Given the description of an element on the screen output the (x, y) to click on. 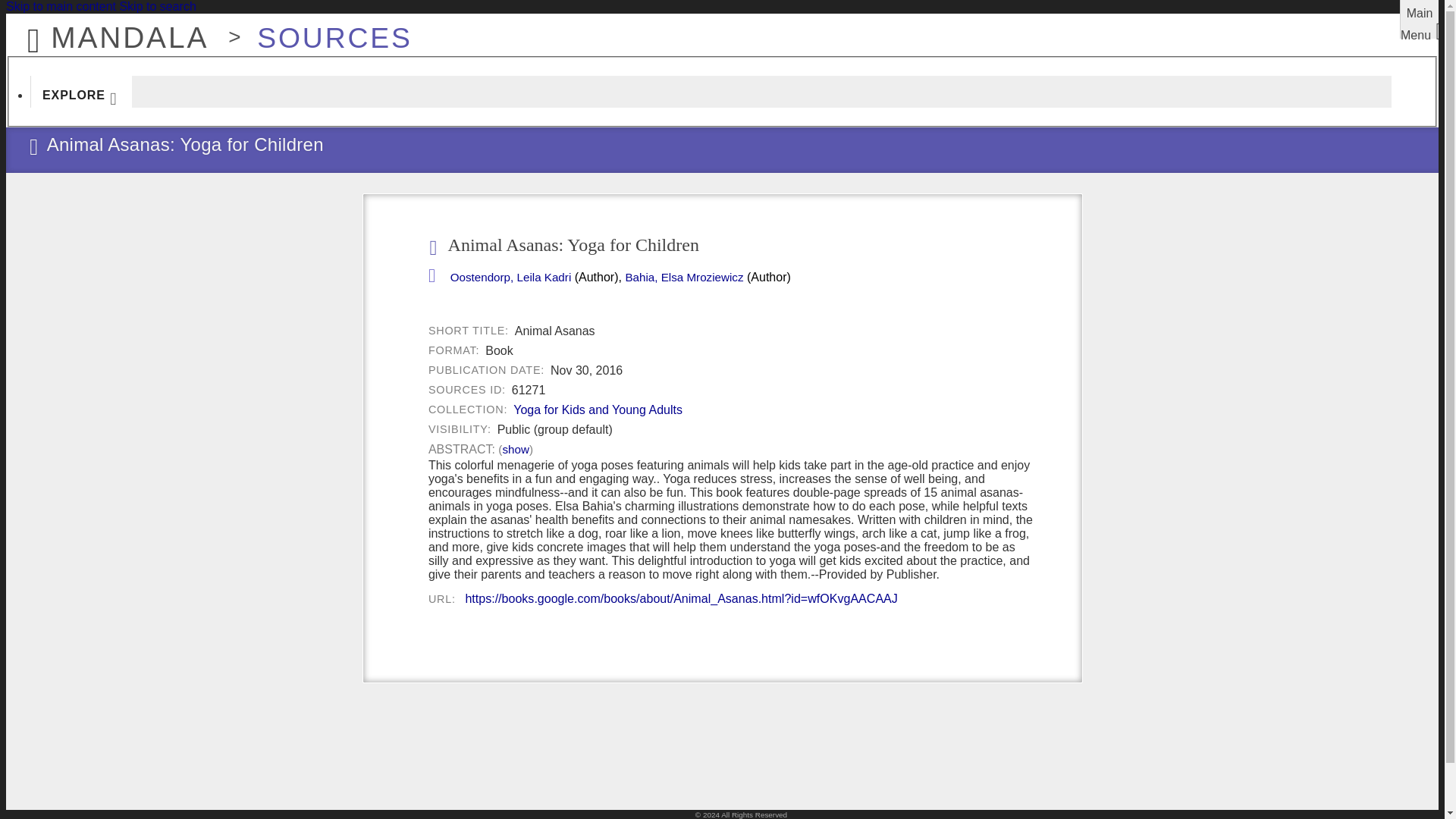
SOURCES (326, 29)
Oostendorp, Leila Kadri (510, 277)
Mandala Collections - Sources Homepage (326, 29)
Main Menu (1419, 19)
show (515, 449)
Yoga for Kids and Young Adults (597, 409)
Skip to search (157, 6)
MANDALA (113, 29)
Skip to main content (60, 6)
EXPLORE (81, 91)
Bahia, Elsa Mroziewicz (683, 277)
